Given the description of an element on the screen output the (x, y) to click on. 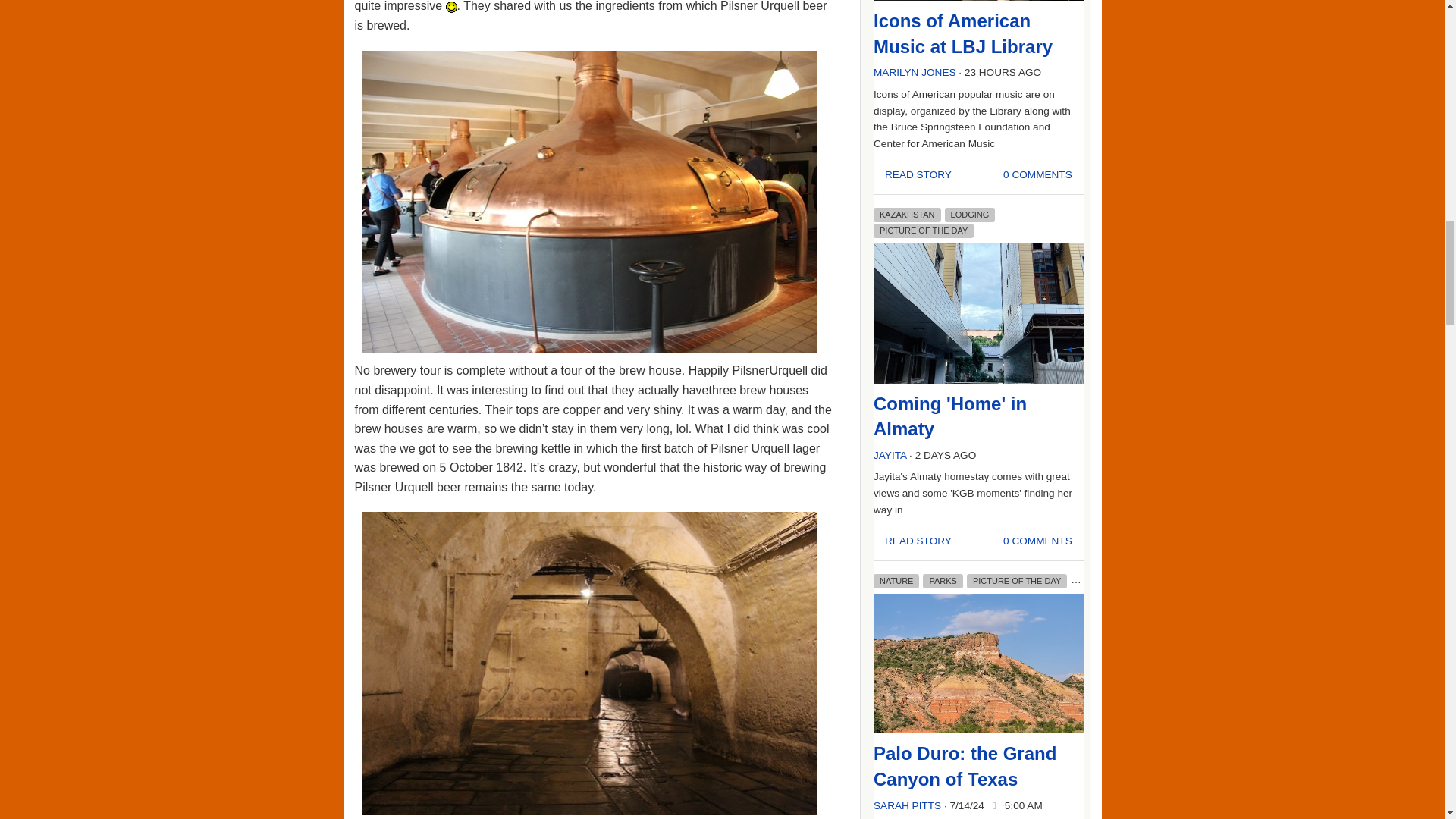
Pilsner - Kettles 1 (590, 205)
Pilsner - Celler (590, 666)
